Given the description of an element on the screen output the (x, y) to click on. 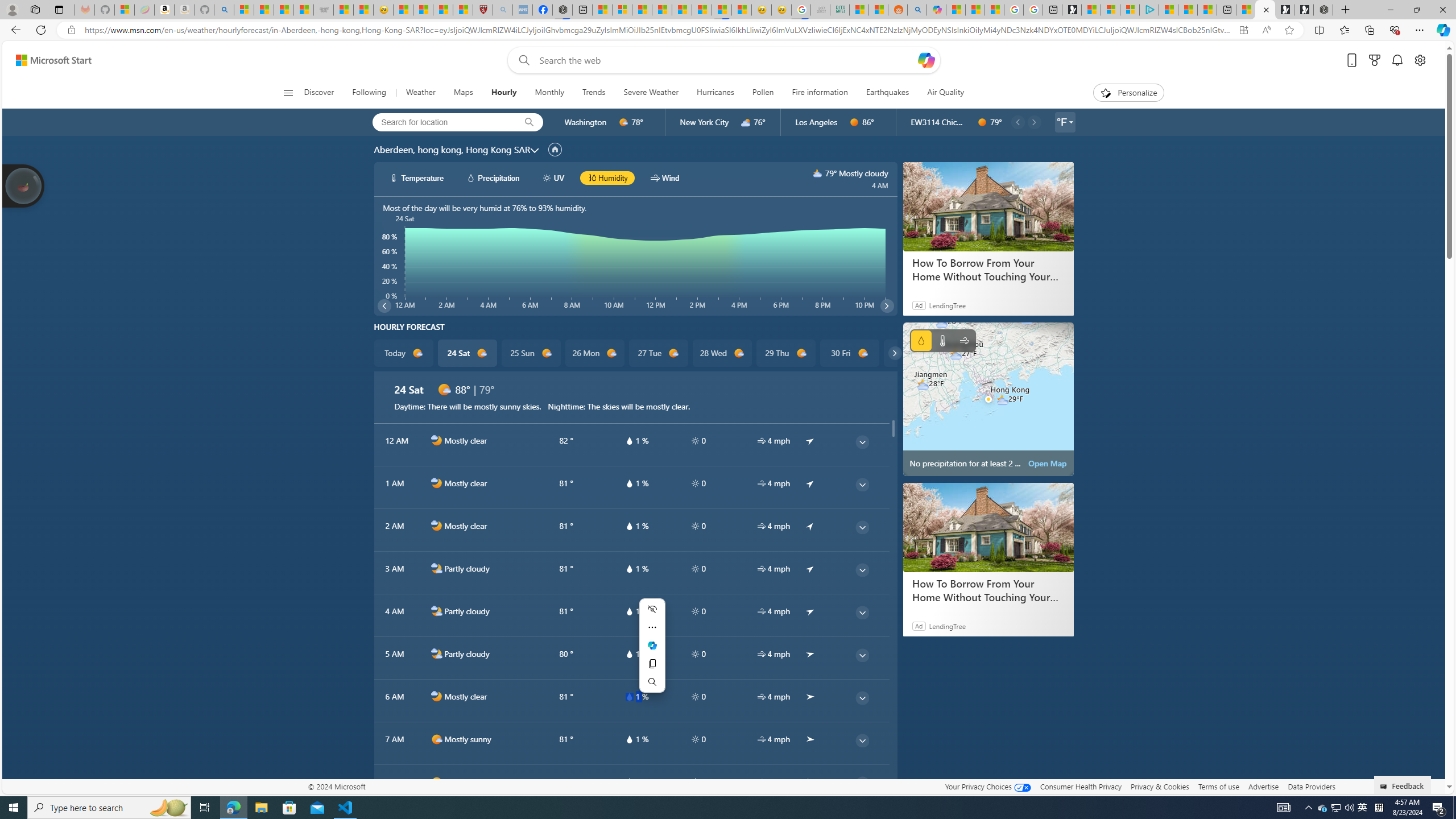
n1000 (436, 696)
Hurricanes (715, 92)
Temperature (942, 340)
Class: feedback_link_icon-DS-EntryPoint1-1 (1384, 786)
More actions (652, 627)
hourlyChart/humidityBlack (591, 177)
Class: miniMapRadarSVGView-DS-EntryPoint1-1 (988, 398)
hourlyChart/precipitationWhite Precipitation (493, 178)
Hurricanes (715, 92)
hourlyChart/precipitationWhite (470, 177)
